Given the description of an element on the screen output the (x, y) to click on. 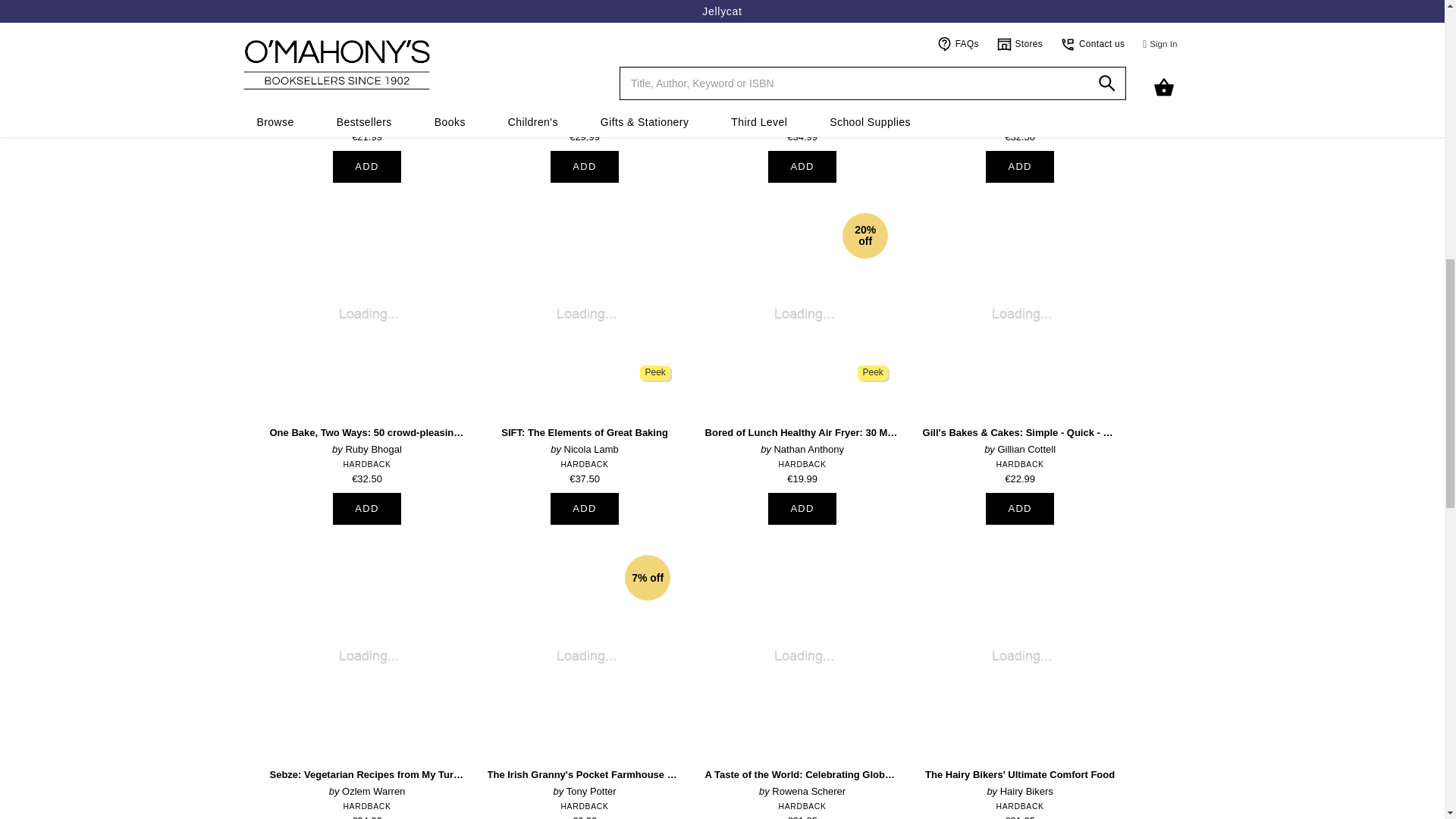
See more about So Good by Emily English (584, 70)
